Given the description of an element on the screen output the (x, y) to click on. 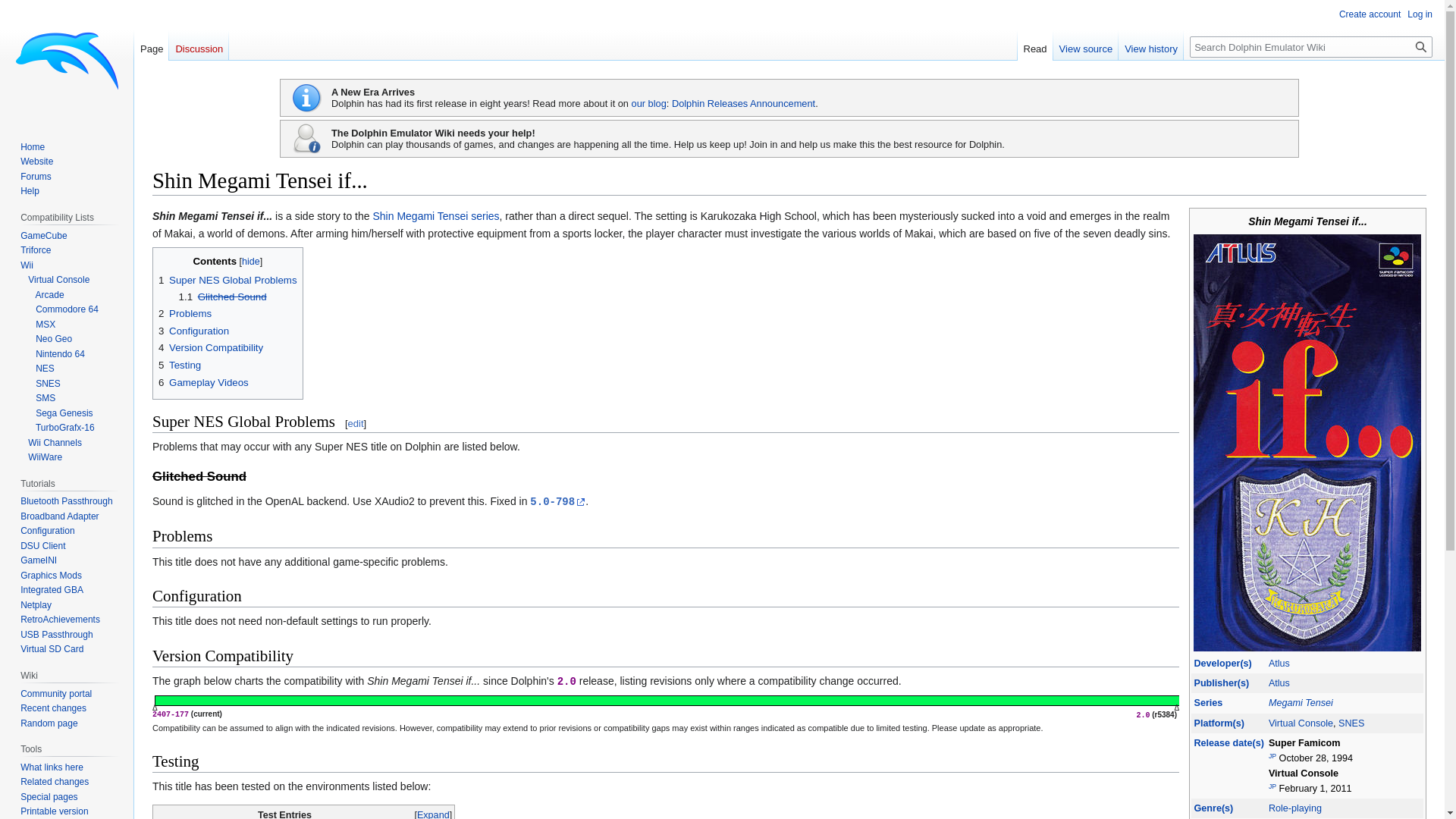
Go (1420, 46)
Series (1208, 702)
1.1 Glitched Sound (222, 296)
Atlus (1279, 663)
Category:Developers (1221, 663)
Virtual Console (1300, 722)
Virtual Console (1300, 722)
Dolphin Releases Announcement (743, 102)
3 Configuration (193, 330)
